Given the description of an element on the screen output the (x, y) to click on. 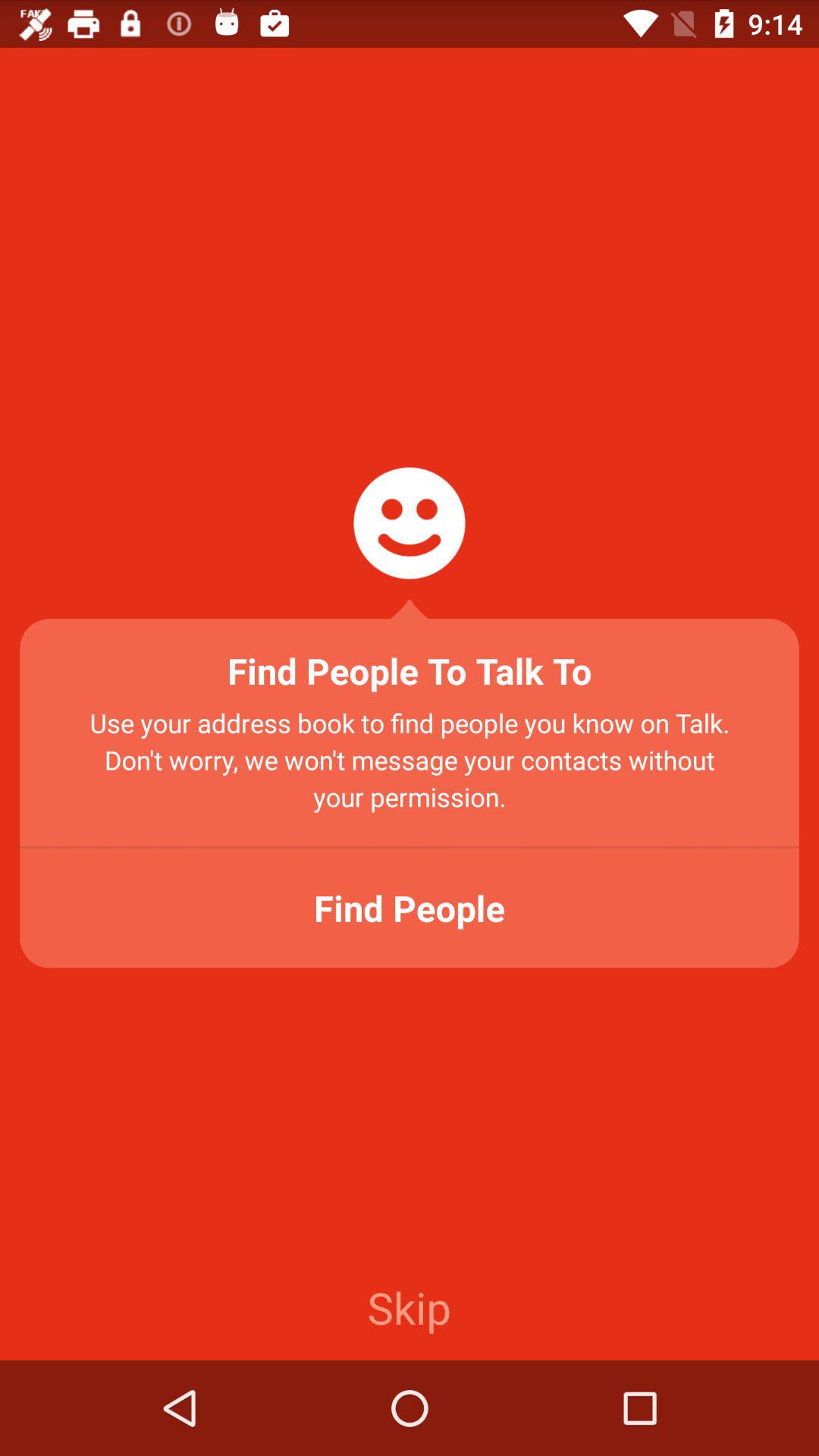
choose the skip item (409, 1306)
